Given the description of an element on the screen output the (x, y) to click on. 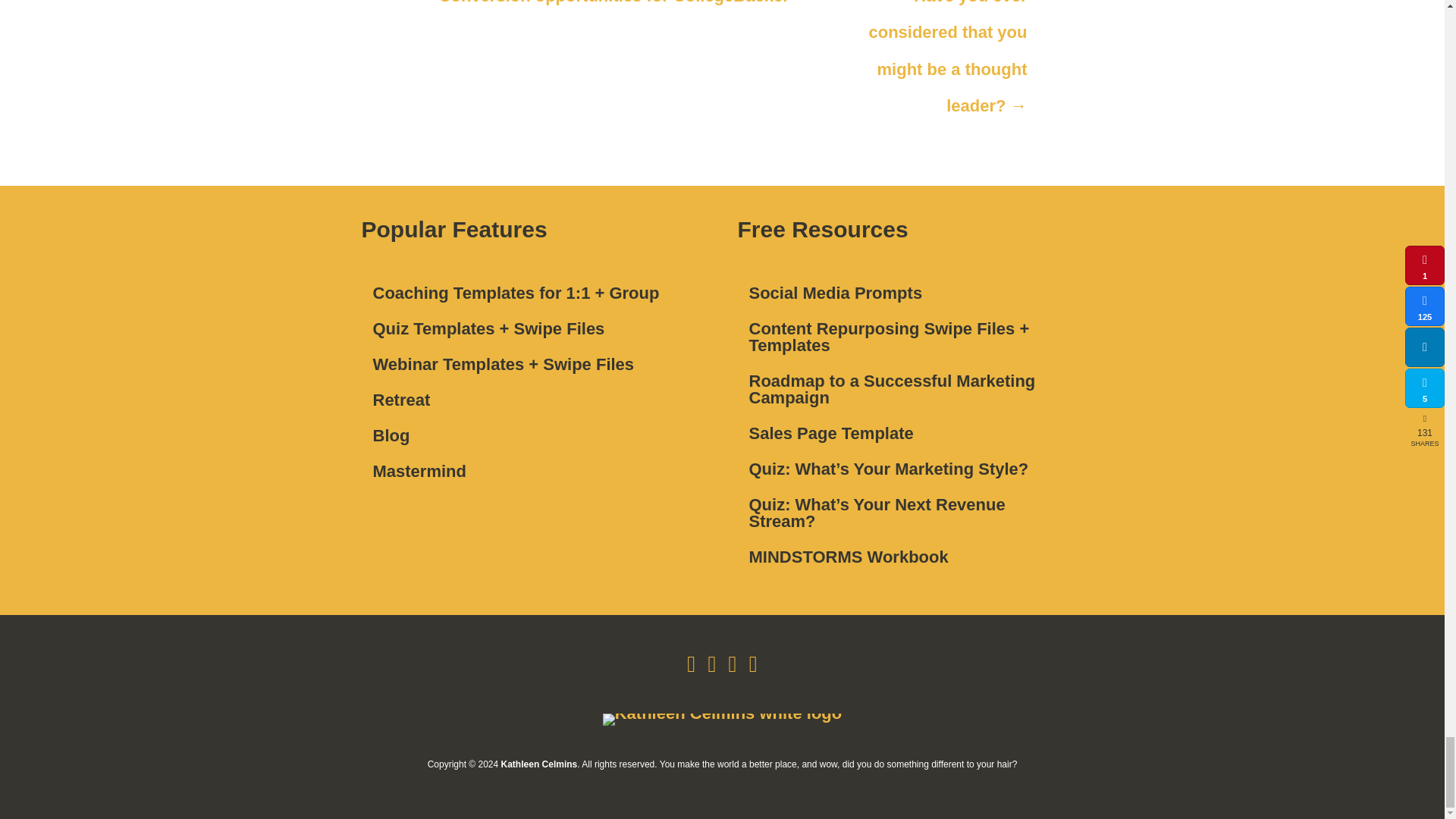
Blog (534, 436)
Mastermind (534, 471)
Retreat (534, 400)
Kathleen Celmins white logo (721, 719)
